Given the description of an element on the screen output the (x, y) to click on. 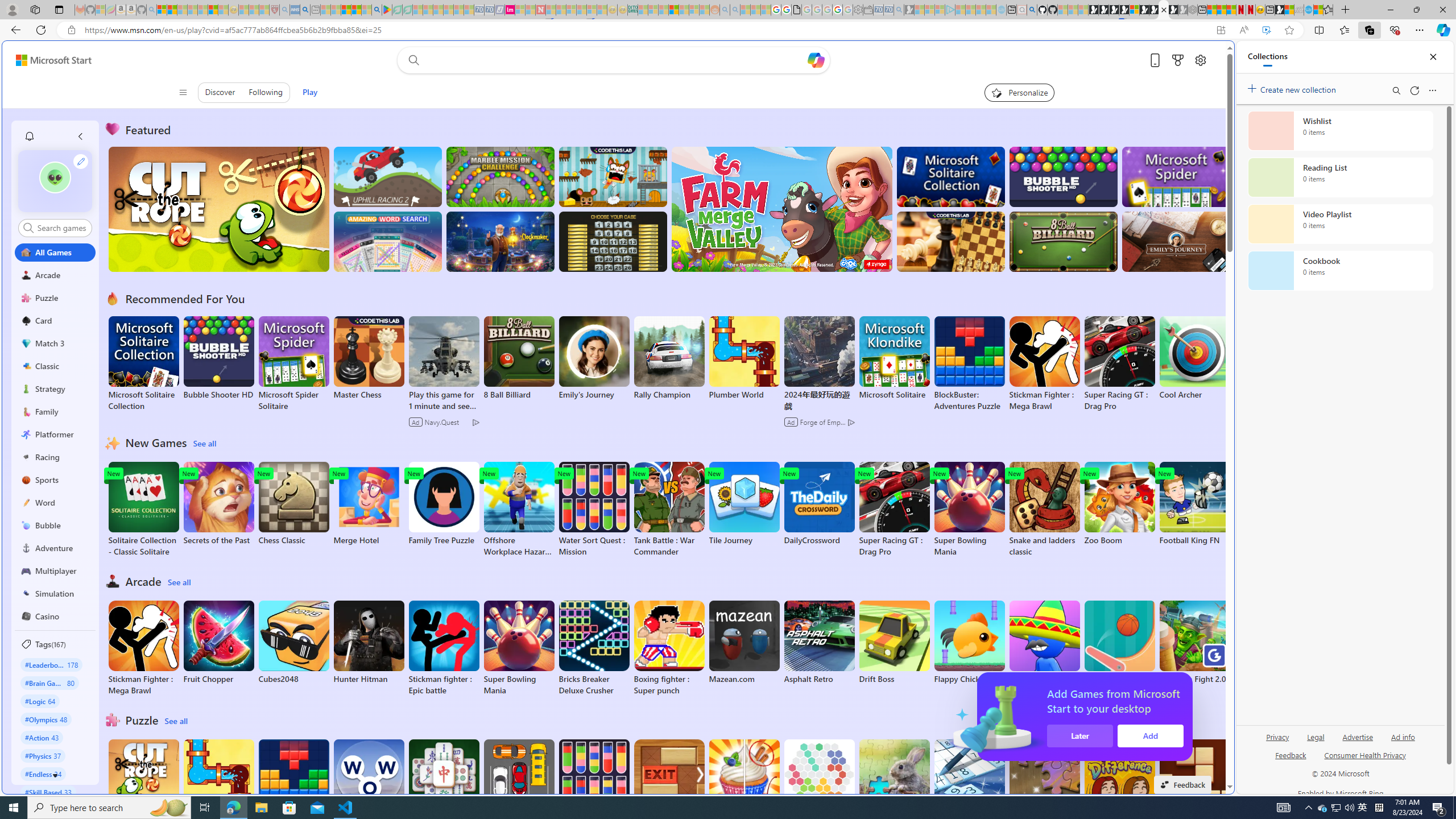
Snake and ladders classic (1044, 509)
Amazing Word Search (387, 241)
Stickman Fighter : Mega Brawl (143, 648)
